Given the description of an element on the screen output the (x, y) to click on. 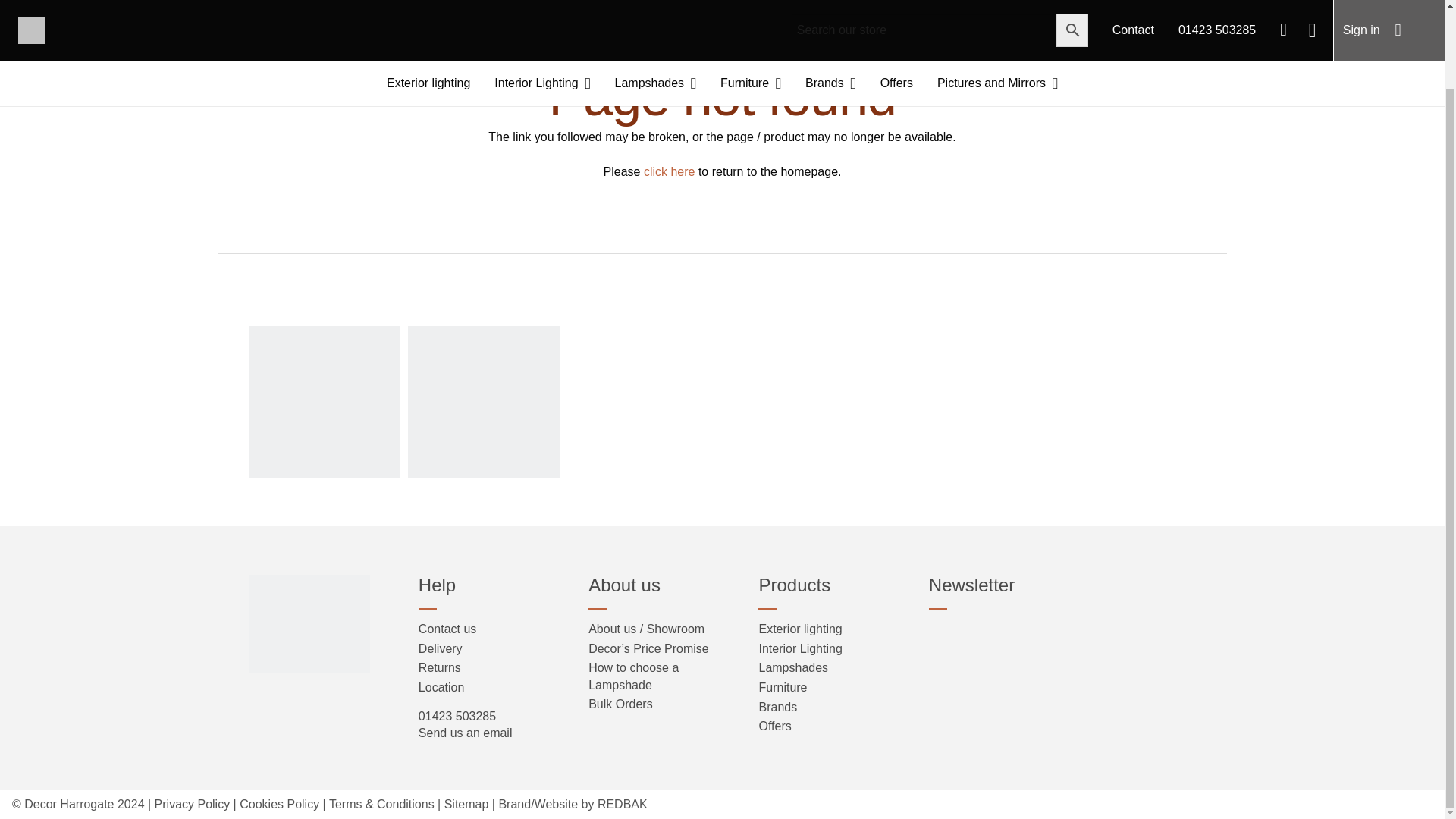
Interior Lighting (541, 8)
Lampshades (654, 8)
Exterior lighting (427, 8)
